Given the description of an element on the screen output the (x, y) to click on. 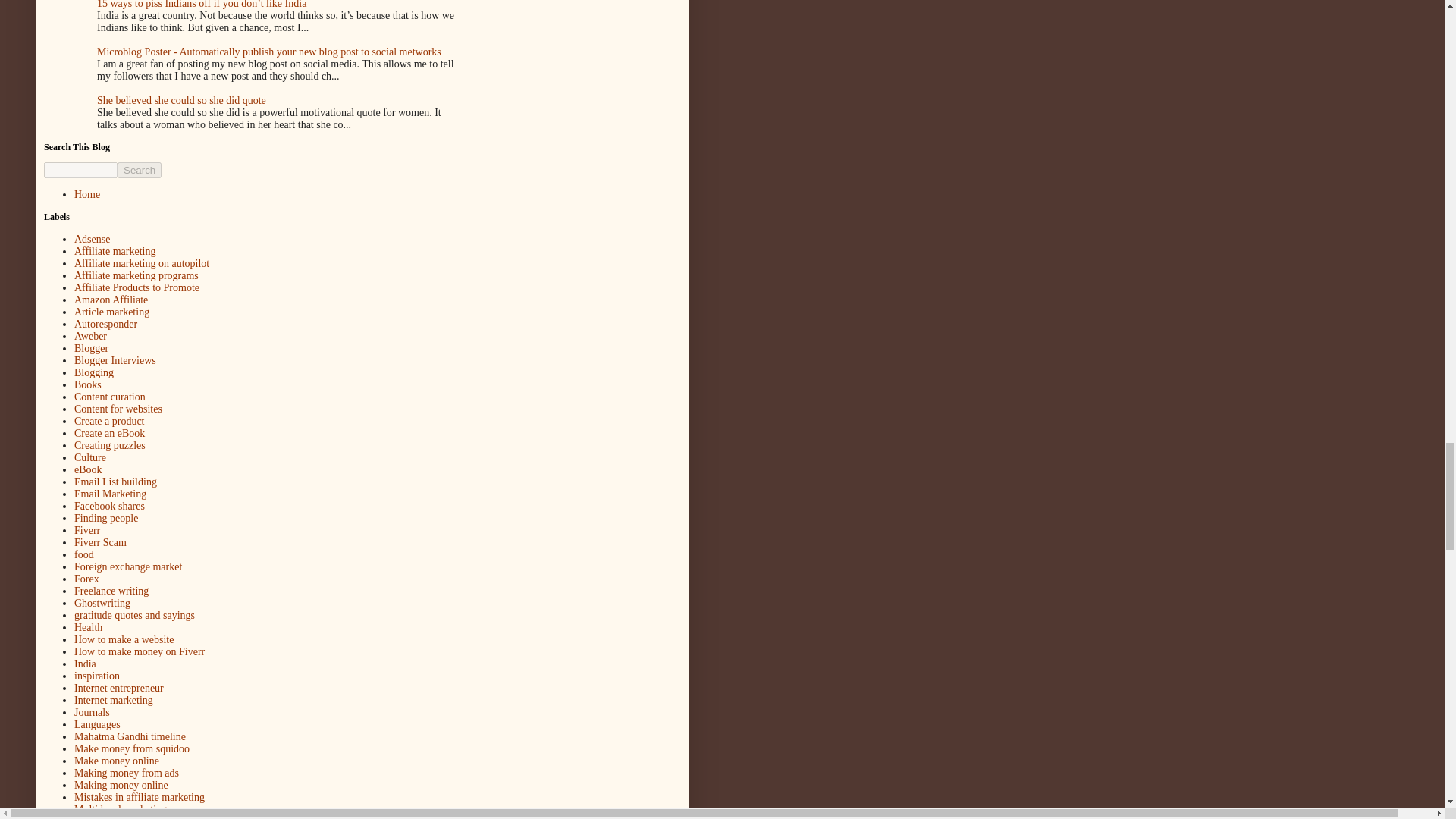
Affiliate marketing (114, 251)
Search (139, 170)
She believed she could so she did quote (181, 100)
Search (139, 170)
search (80, 170)
Affiliate marketing on autopilot (141, 263)
Home (87, 194)
Search (139, 170)
Amazon Affiliate (111, 299)
Affiliate marketing programs (136, 275)
Adsense (92, 238)
Affiliate Products to Promote (136, 287)
search (139, 170)
